Given the description of an element on the screen output the (x, y) to click on. 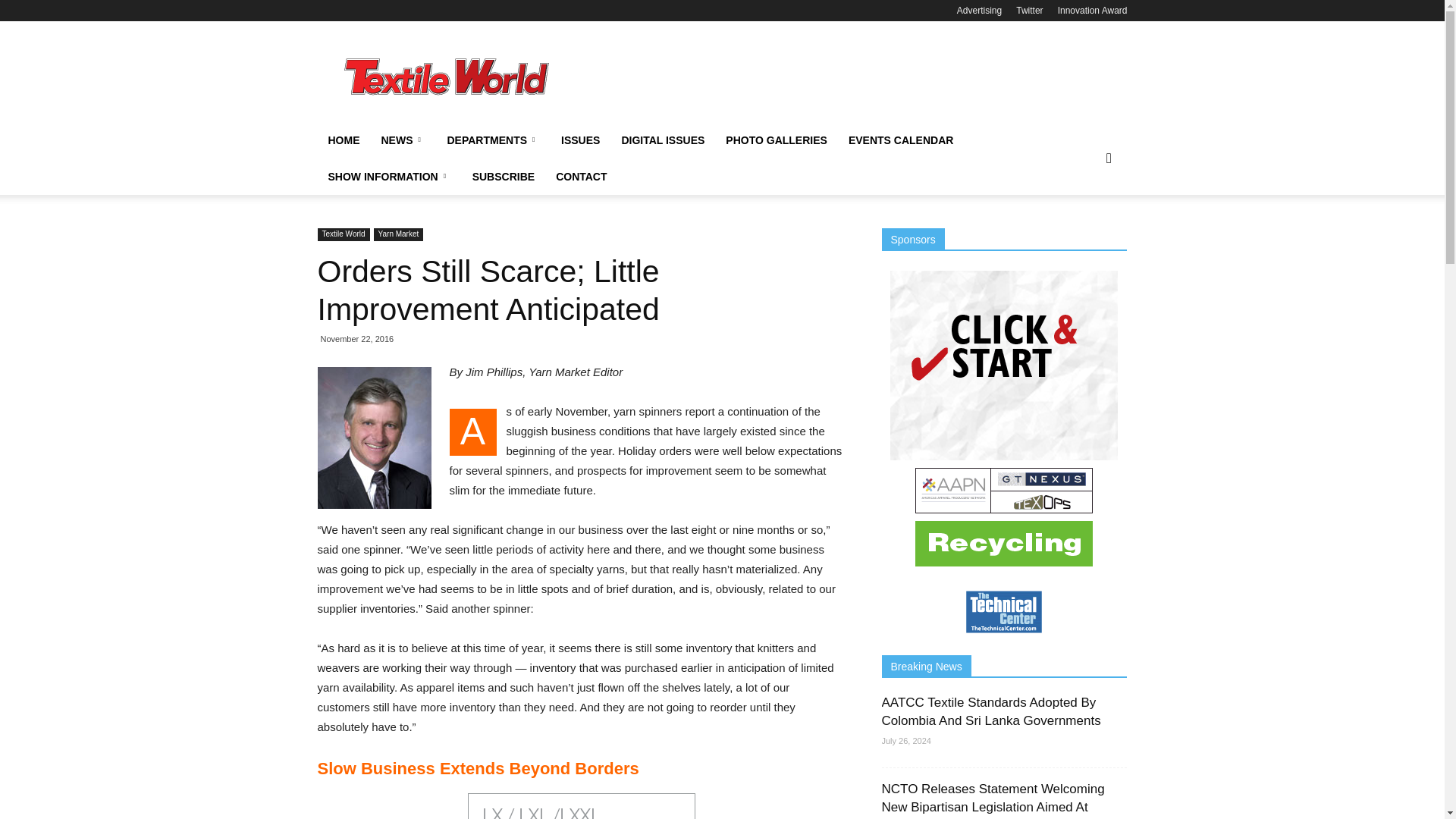
advertisement (850, 76)
